Given the description of an element on the screen output the (x, y) to click on. 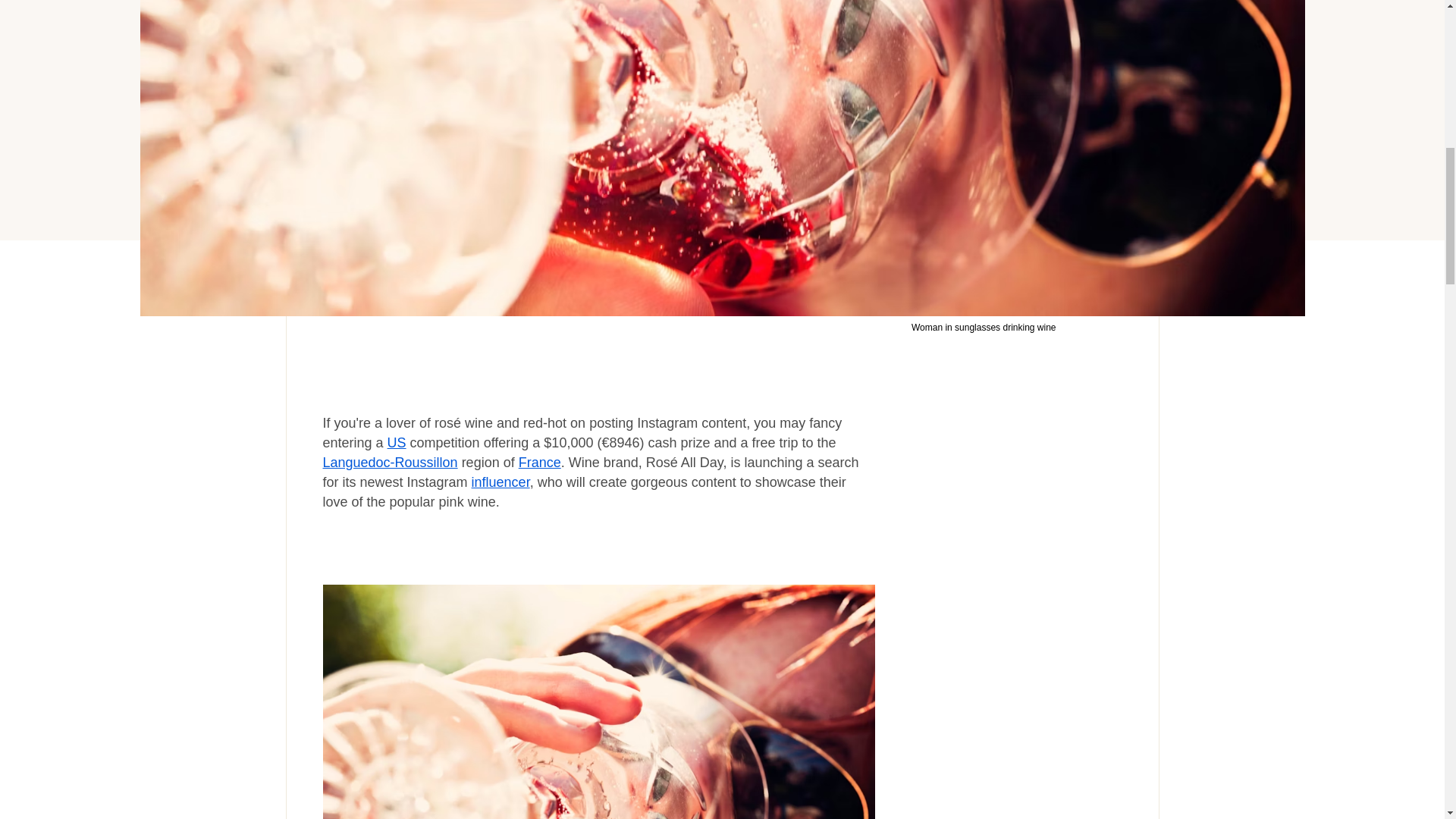
influencer (500, 482)
France (539, 462)
US (396, 442)
Languedoc-Roussillon (390, 462)
